Given the description of an element on the screen output the (x, y) to click on. 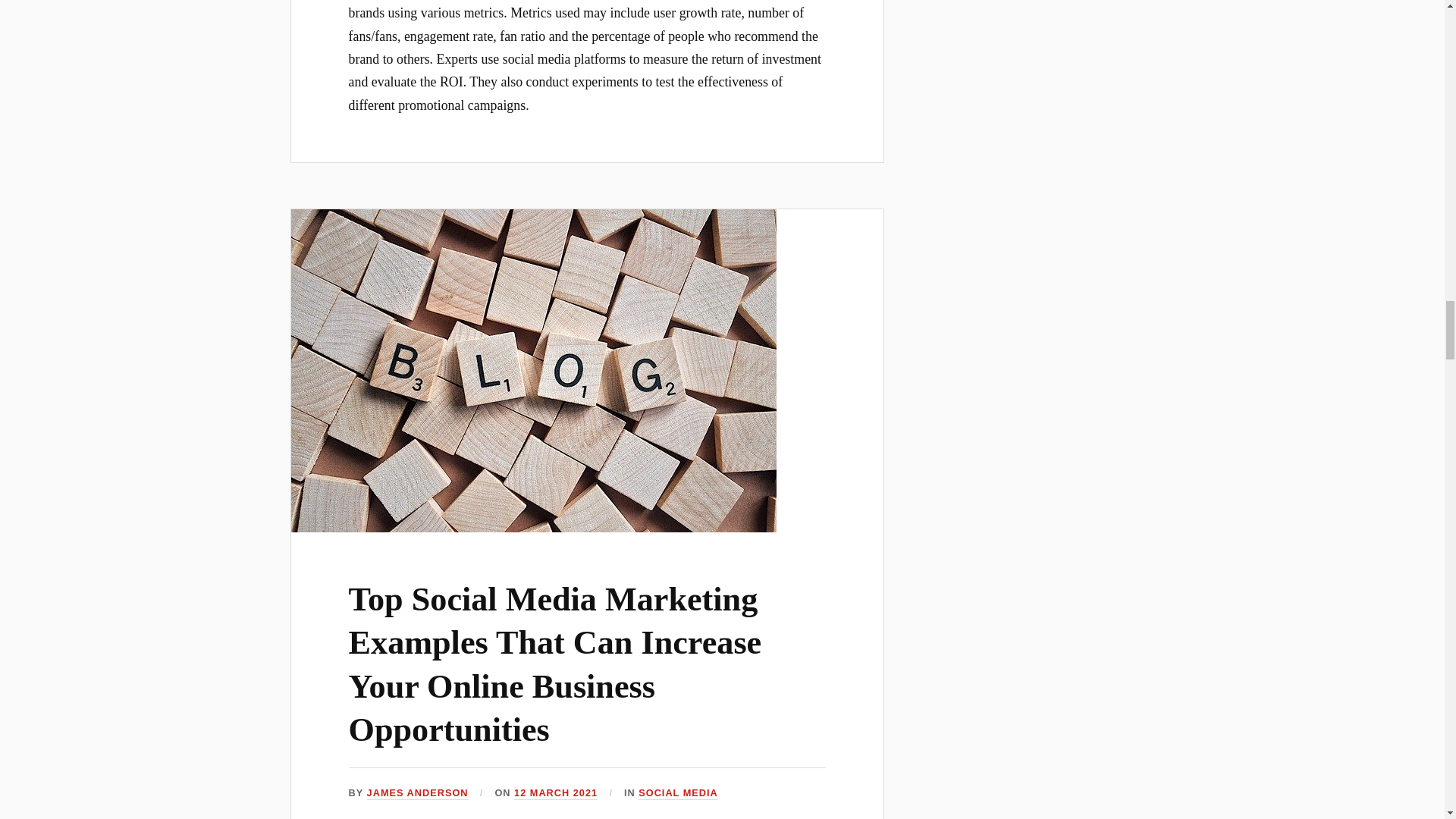
JAMES ANDERSON (417, 793)
12 MARCH 2021 (554, 793)
Posts by James Anderson (417, 793)
SOCIAL MEDIA (678, 793)
